Given the description of an element on the screen output the (x, y) to click on. 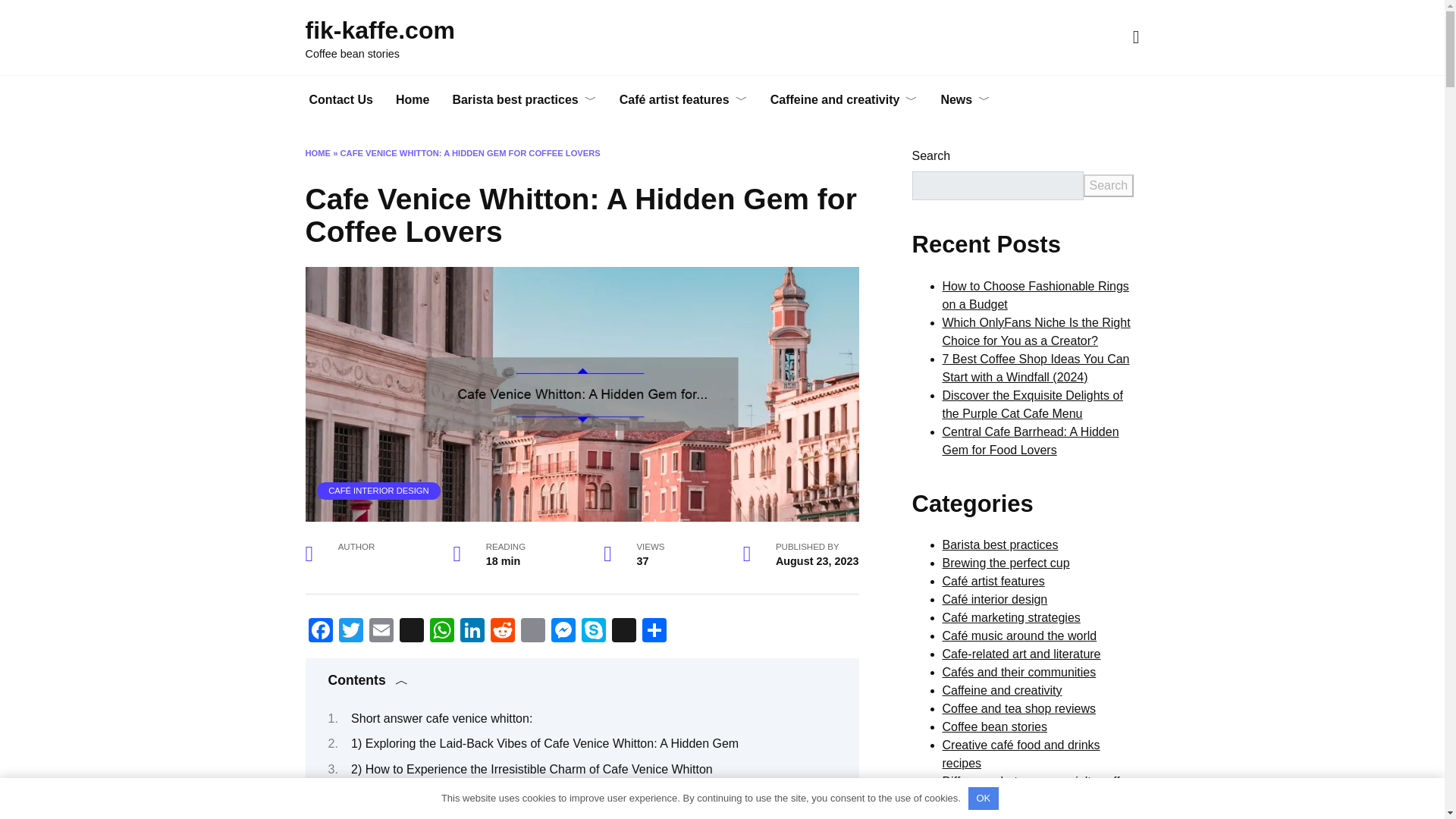
Skype (593, 632)
Email (380, 632)
Twitter (349, 632)
Barista best practices (524, 100)
Threads (411, 632)
Messenger (562, 632)
Facebook (319, 632)
LinkedIn (471, 632)
fik-kaffe.com (379, 30)
WhatsApp (441, 632)
